Given the description of an element on the screen output the (x, y) to click on. 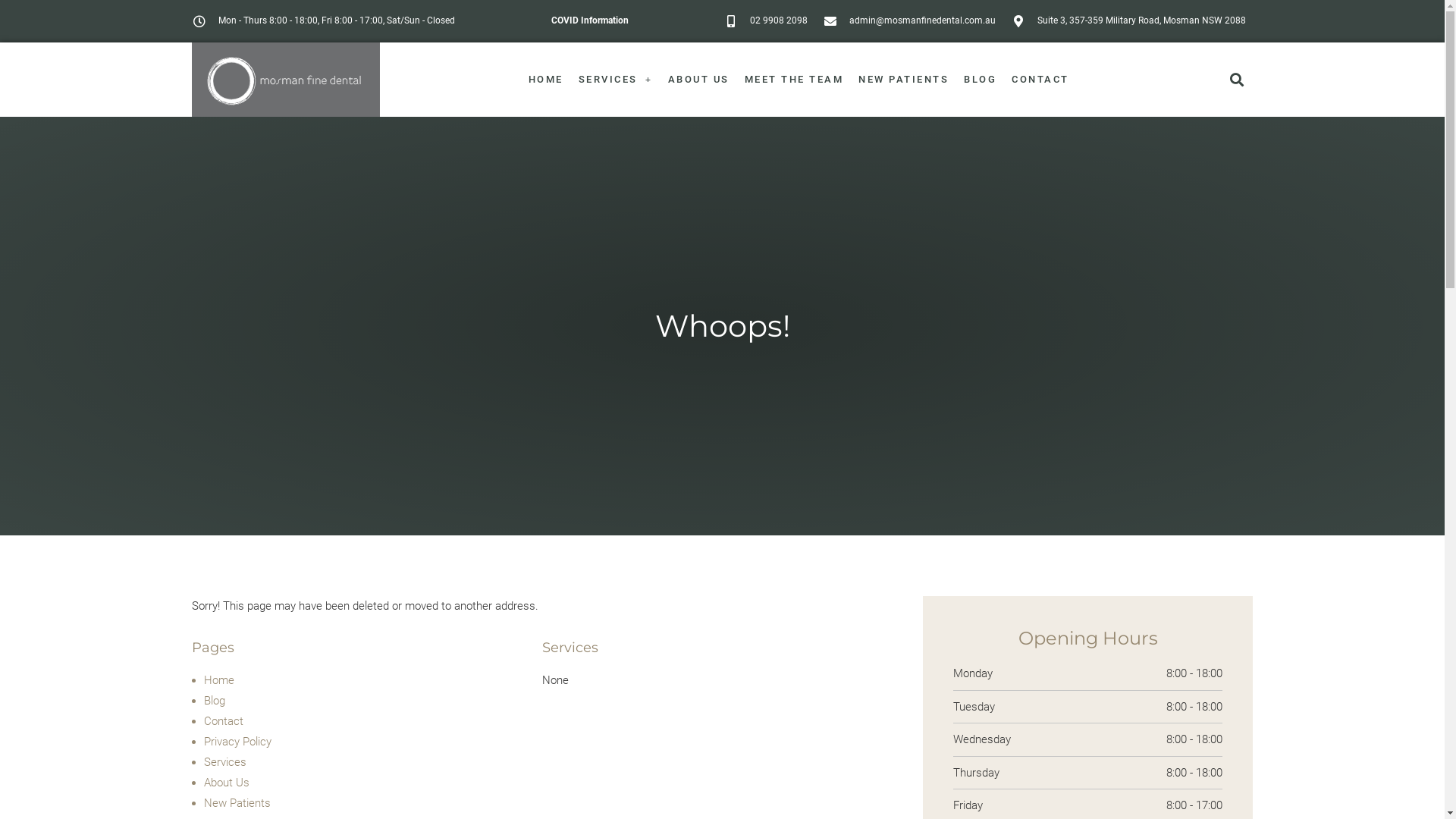
Services Element type: text (224, 761)
COVID Information Element type: text (589, 20)
MEET THE TEAM Element type: text (794, 78)
ABOUT US Element type: text (698, 78)
02 9908 2098 Element type: text (765, 21)
CONTACT Element type: text (1040, 78)
BLOG Element type: text (979, 78)
HOME Element type: text (545, 78)
NEW PATIENTS Element type: text (903, 78)
Home Element type: text (218, 680)
Blog Element type: text (213, 700)
Contact Element type: text (222, 721)
Privacy Policy Element type: text (236, 741)
SERVICES Element type: text (615, 78)
admin@mosmanfinedental.com.au Element type: text (908, 21)
Suite 3, 357-359 Military Road, Mosman NSW 2088 Element type: text (1127, 21)
About Us Element type: text (225, 782)
New Patients Element type: text (236, 802)
